Given the description of an element on the screen output the (x, y) to click on. 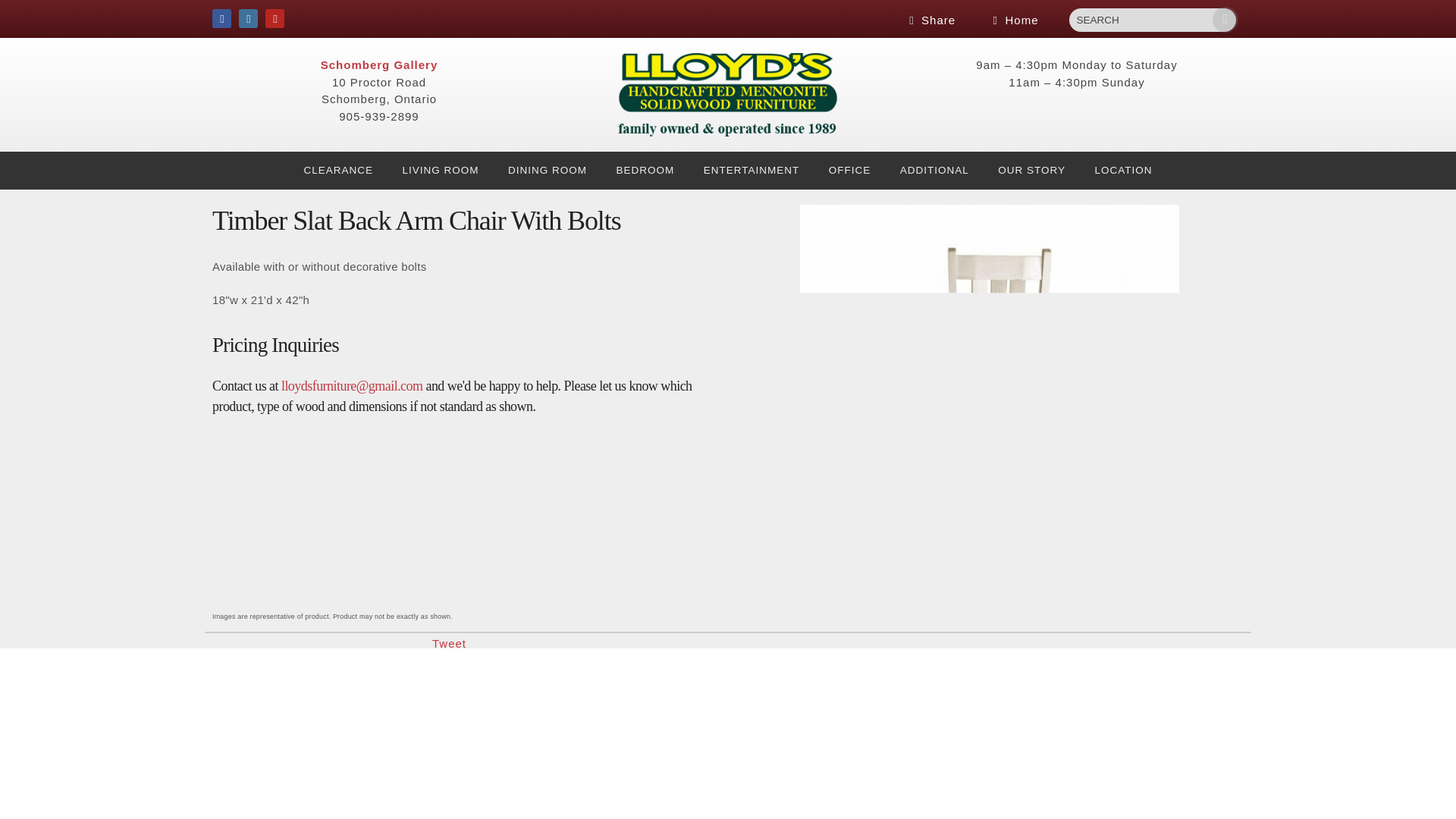
BEDROOM (645, 170)
Schomberg Gallery (379, 64)
Share (930, 19)
CLEARANCE (339, 170)
DINING ROOM (547, 170)
Home (1014, 19)
LIVING ROOM (441, 170)
